Given the description of an element on the screen output the (x, y) to click on. 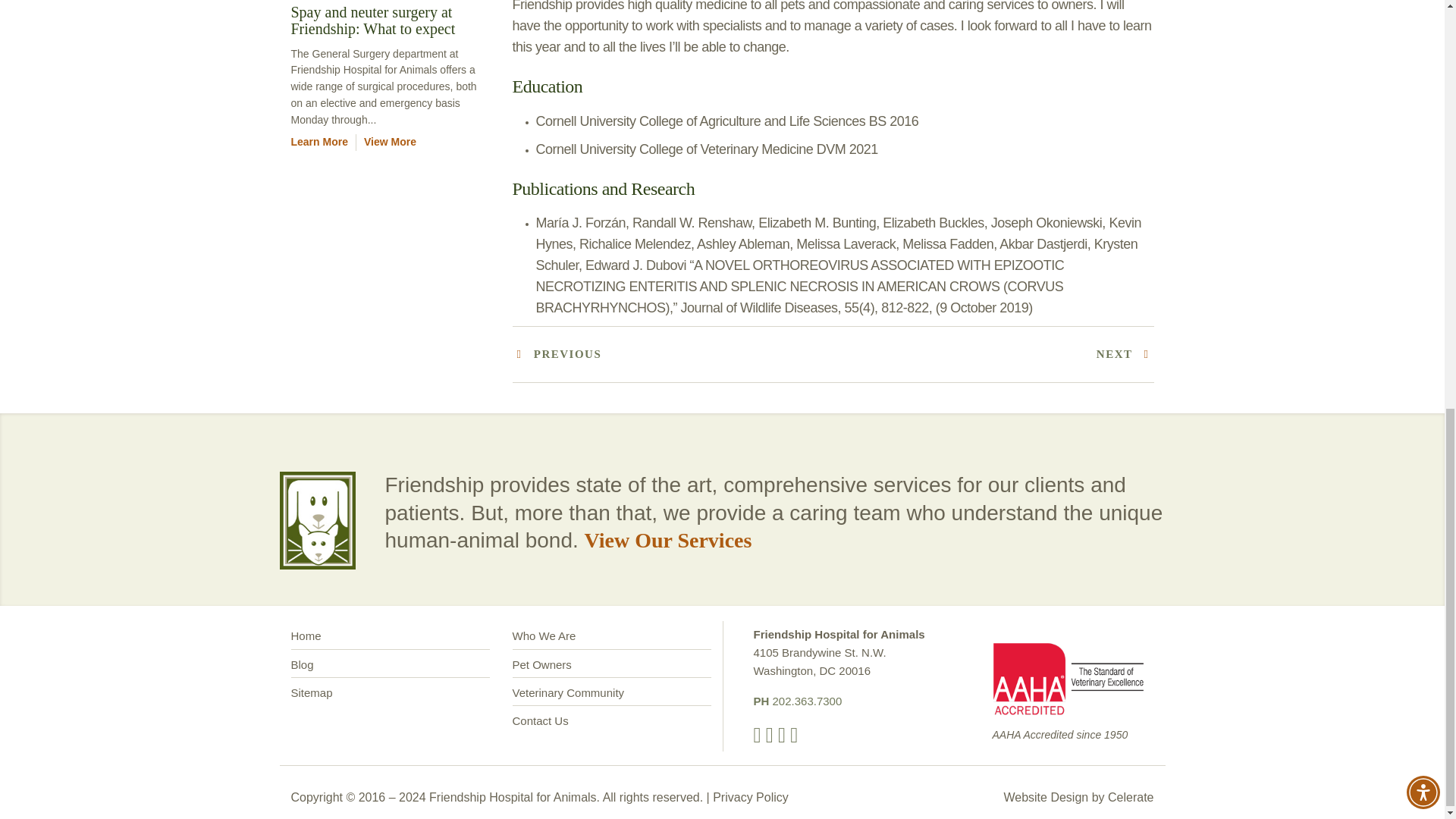
Web design and development (1130, 796)
